Given the description of an element on the screen output the (x, y) to click on. 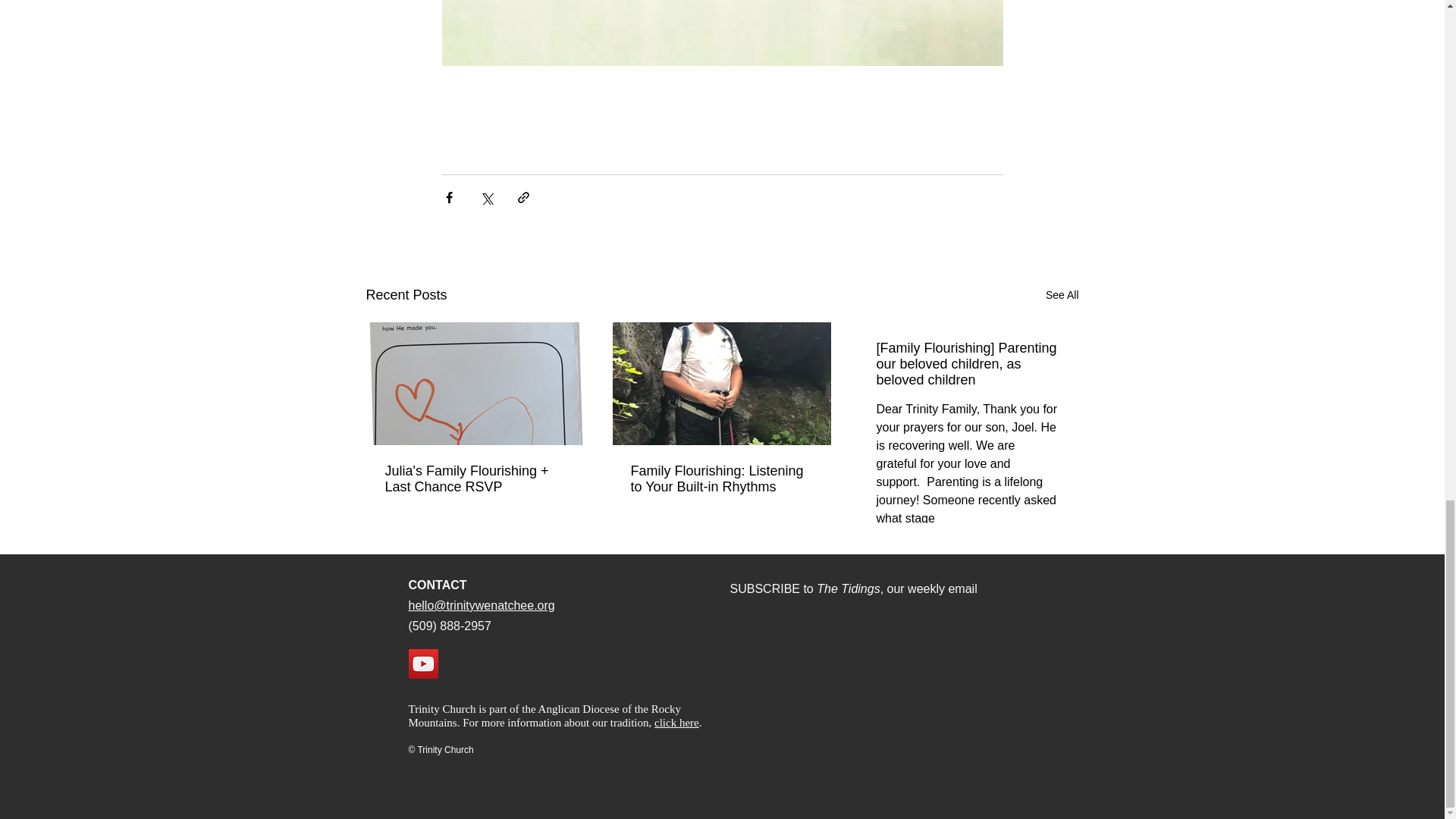
click here (675, 722)
See All (1061, 295)
Family Flourishing: Listening to Your Built-in Rhythms (721, 479)
